Given the description of an element on the screen output the (x, y) to click on. 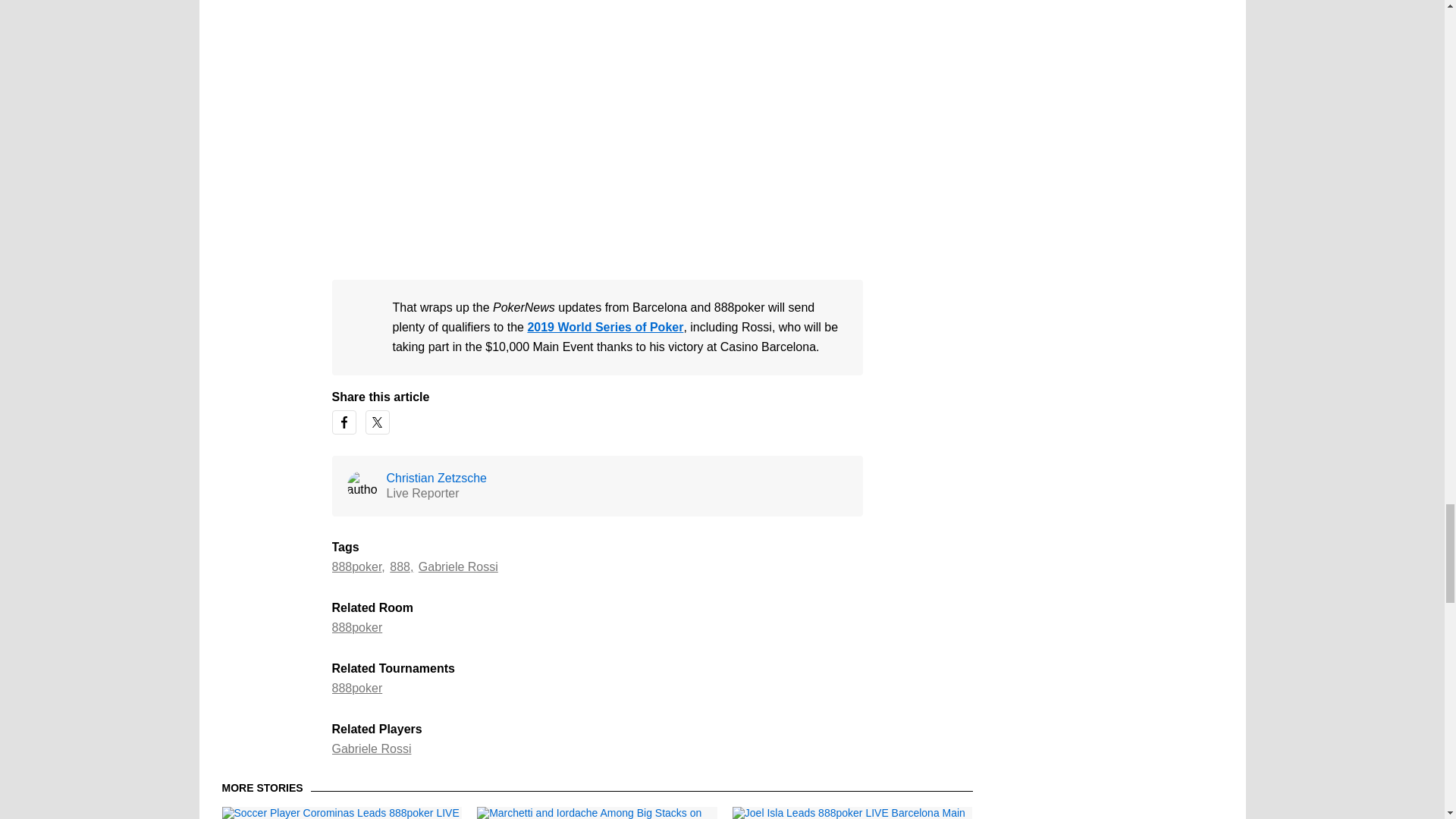
Tweet this (377, 422)
Share this on Facebook (343, 422)
